Given the description of an element on the screen output the (x, y) to click on. 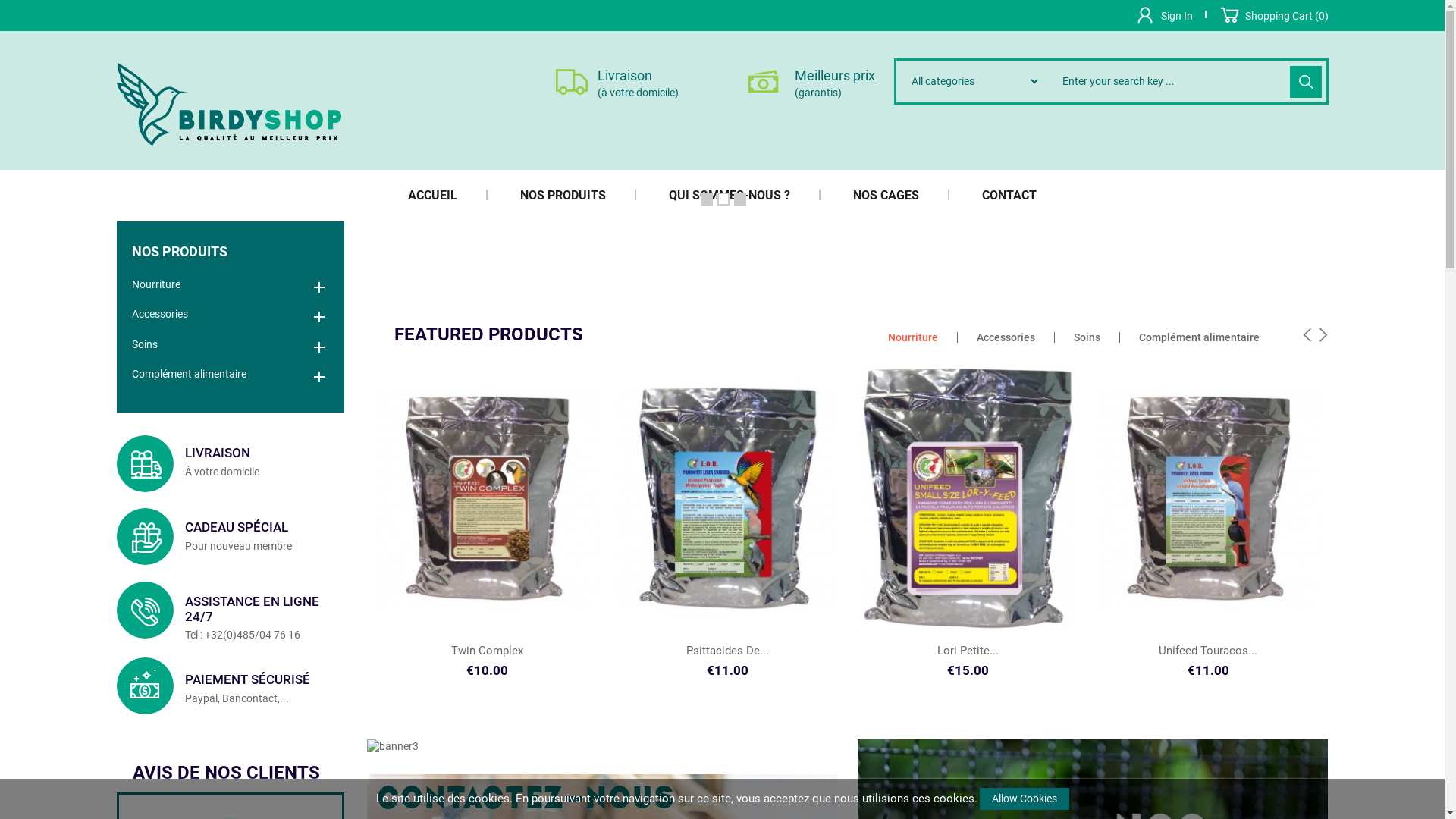
NOS PRODUITS Element type: text (230, 249)
Accessories Element type: text (230, 314)
2 Element type: text (723, 198)
Soins Element type: text (230, 344)
3 Element type: text (740, 198)
1 Element type: text (706, 198)
Allow Cookies Element type: text (1024, 798)
Psittacides De... Element type: text (727, 650)
ACCUEIL Element type: text (447, 195)
Twin Complex Element type: text (487, 650)
CONTACT Element type: text (993, 195)
NOS PRODUITS Element type: text (562, 195)
Unifeed Touracos... Element type: text (1207, 650)
QUI SOMMES-NOUS ? Element type: text (729, 195)
Lori Petite... Element type: text (967, 650)
Nourriture Element type: text (230, 284)
NOS CAGES Element type: text (885, 195)
